Given the description of an element on the screen output the (x, y) to click on. 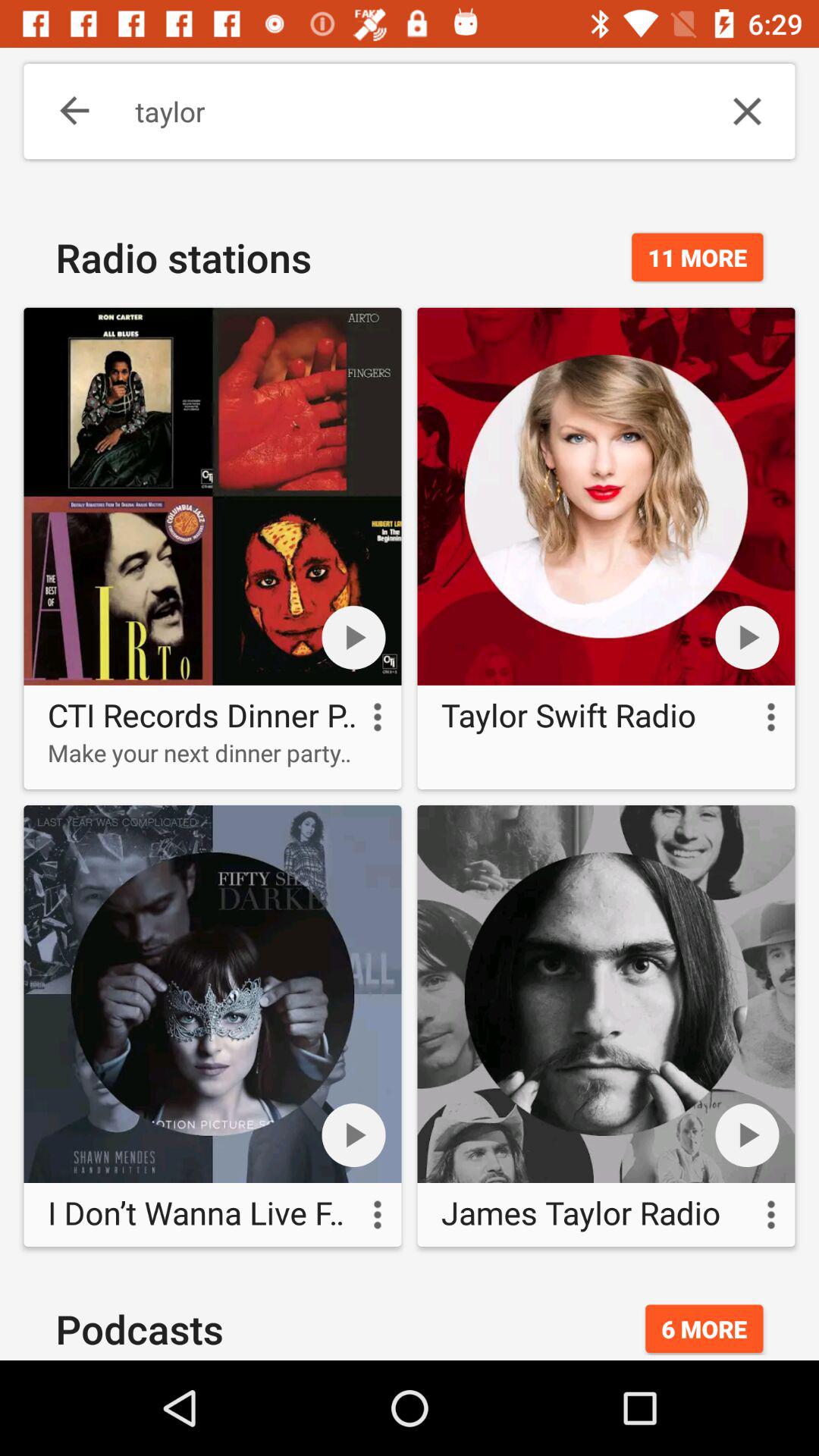
launch item above the 11 more (747, 111)
